Given the description of an element on the screen output the (x, y) to click on. 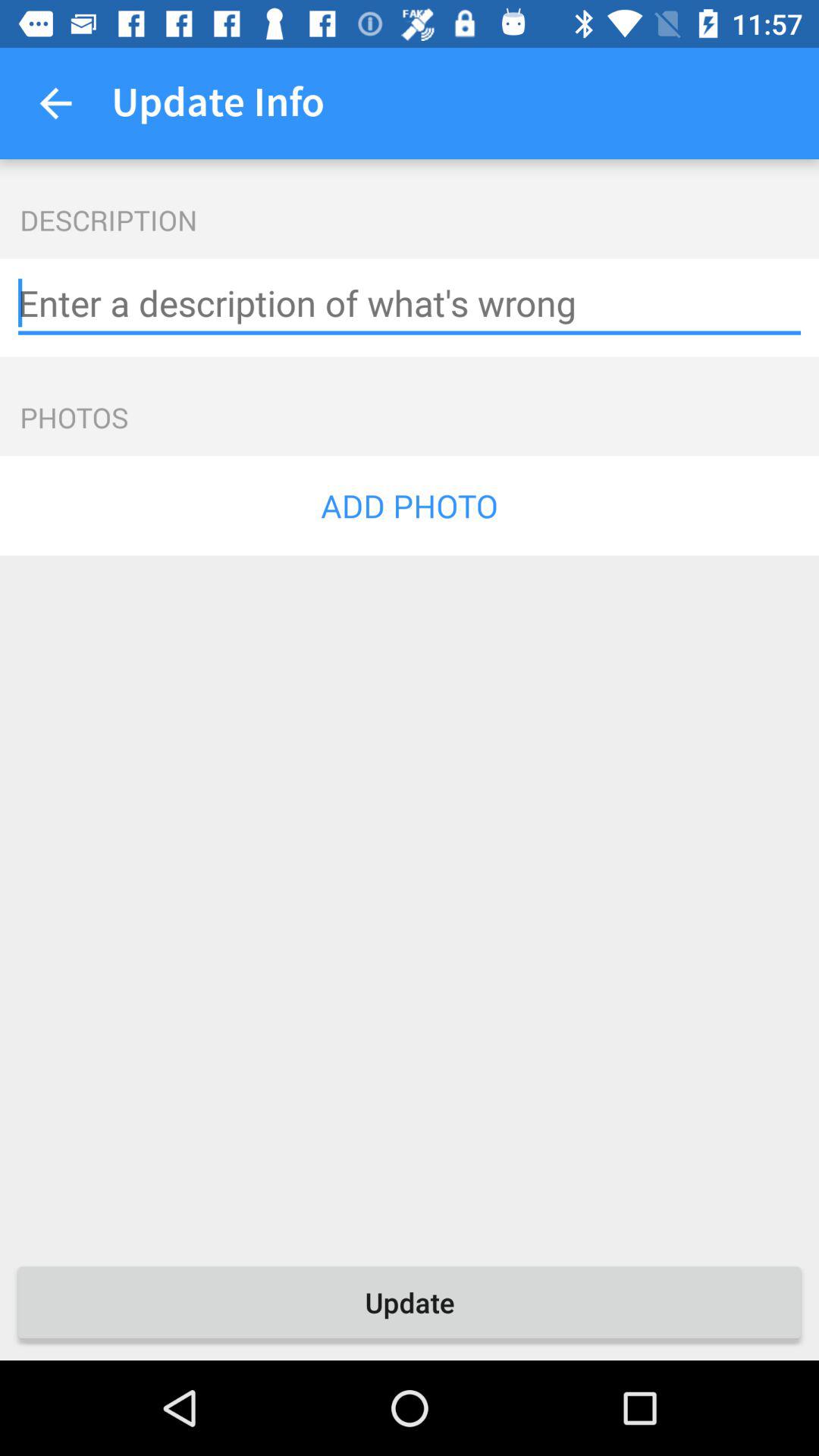
enter description (409, 303)
